Given the description of an element on the screen output the (x, y) to click on. 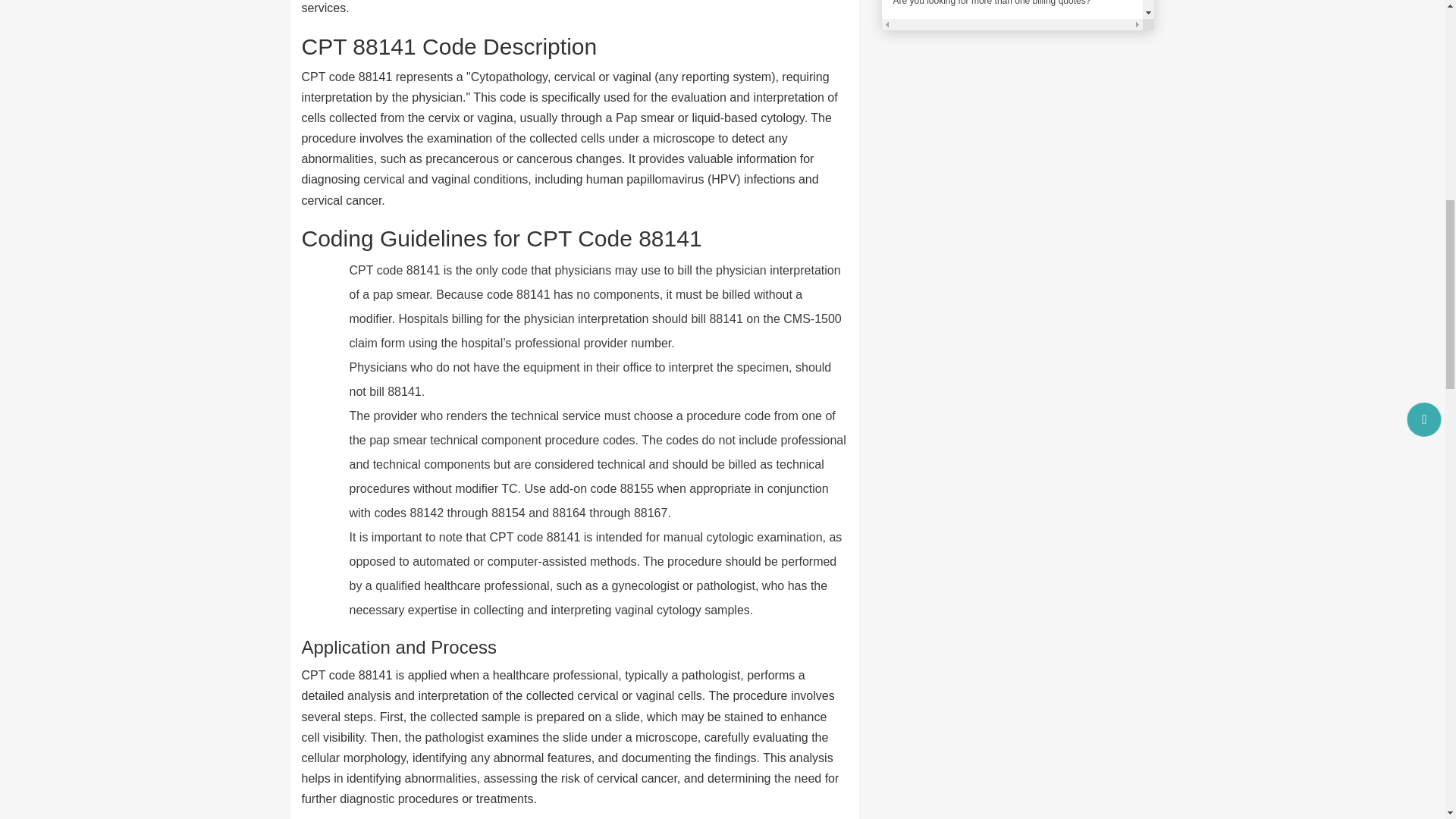
No (949, 25)
Yes (902, 25)
